Given the description of an element on the screen output the (x, y) to click on. 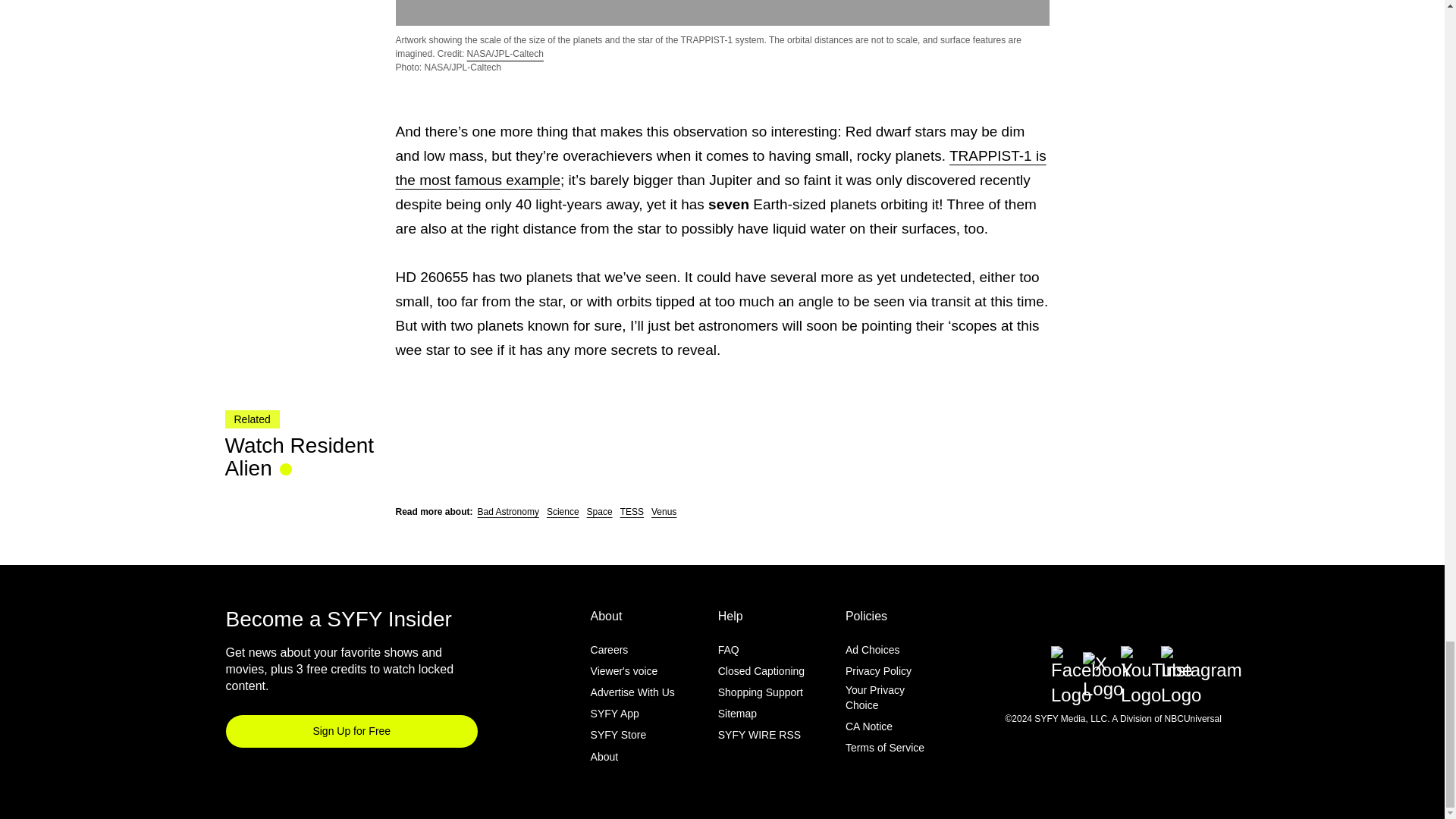
TRAPPIST-1 is the most famous example (721, 168)
Advertise With Us (633, 692)
Bad Astronomy (507, 511)
